Given the description of an element on the screen output the (x, y) to click on. 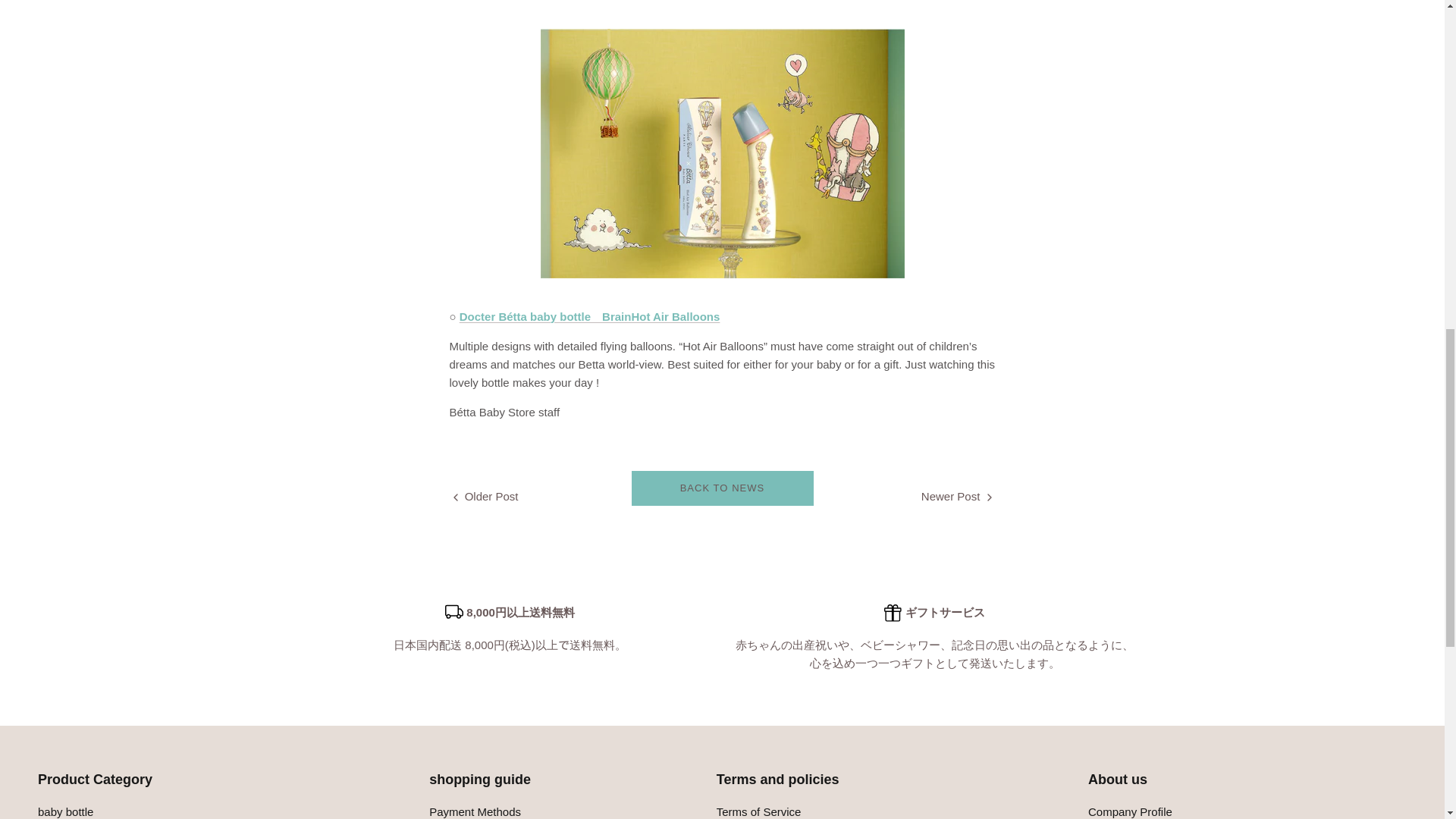
Left (454, 497)
Right (988, 497)
Company Profile (1129, 811)
